Given the description of an element on the screen output the (x, y) to click on. 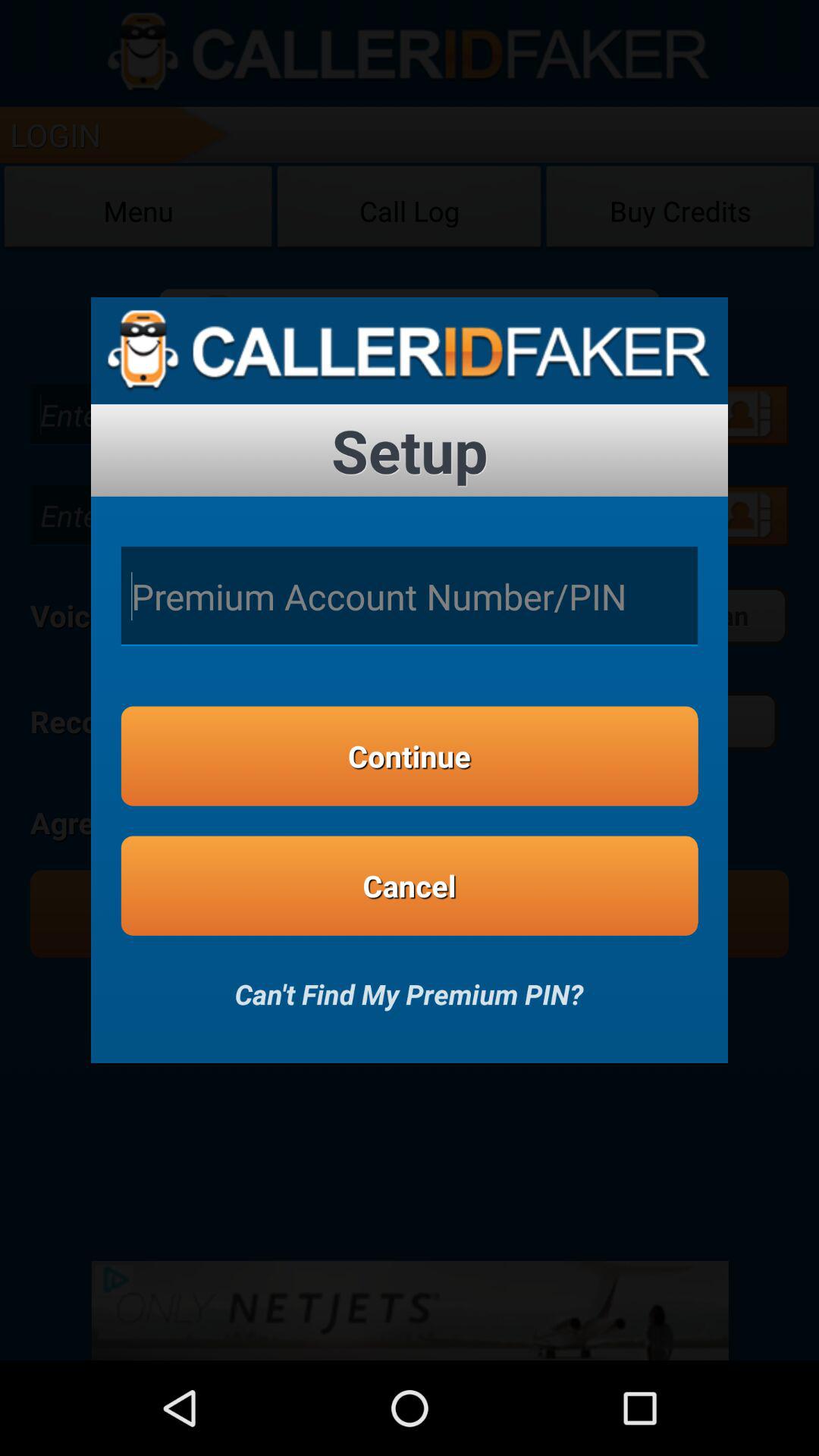
tap the item below the continue icon (409, 885)
